Given the description of an element on the screen output the (x, y) to click on. 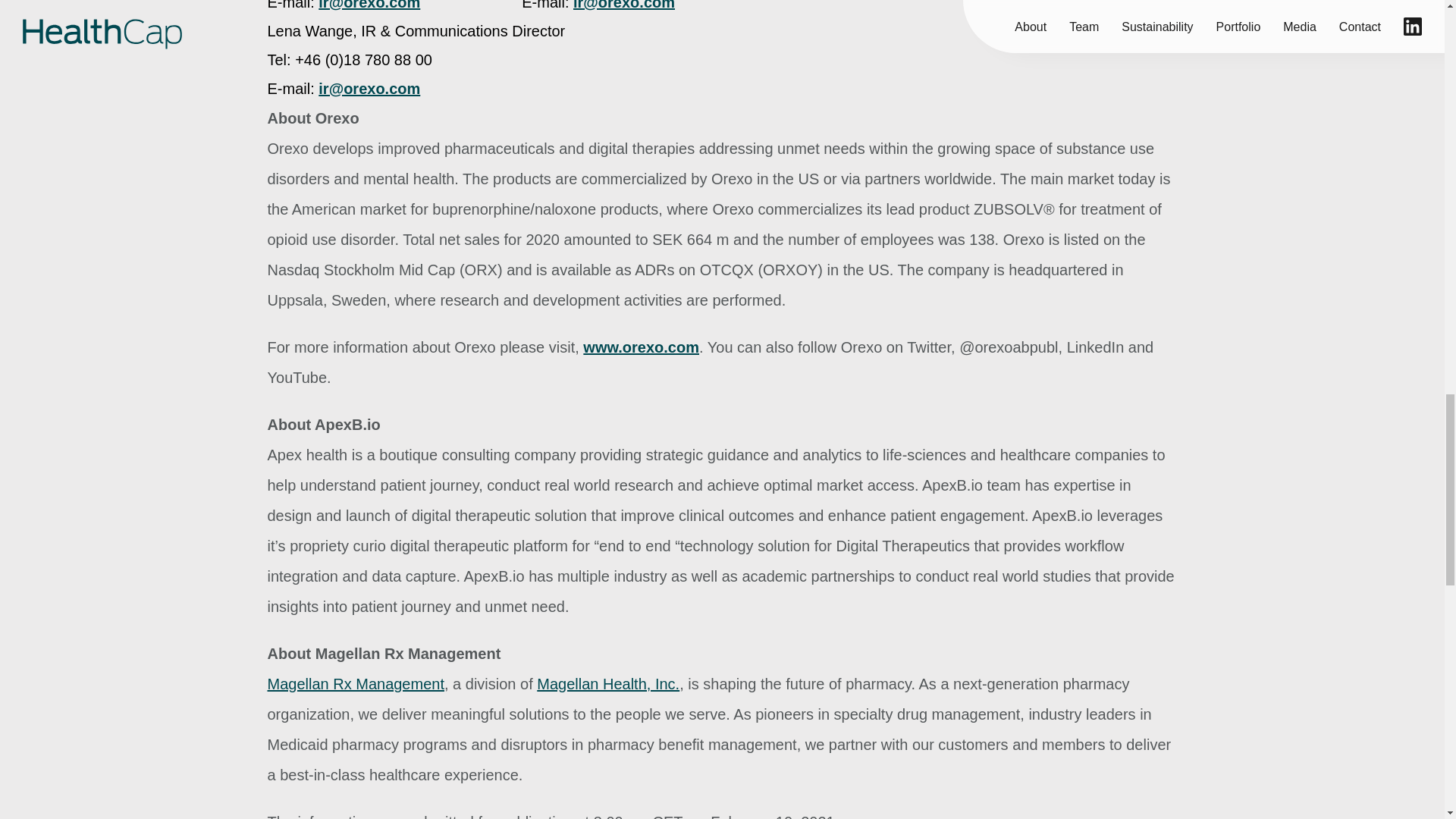
Magellan Rx Management (355, 683)
www.orexo.com (640, 347)
Magellan Health, Inc. (608, 683)
